Given the description of an element on the screen output the (x, y) to click on. 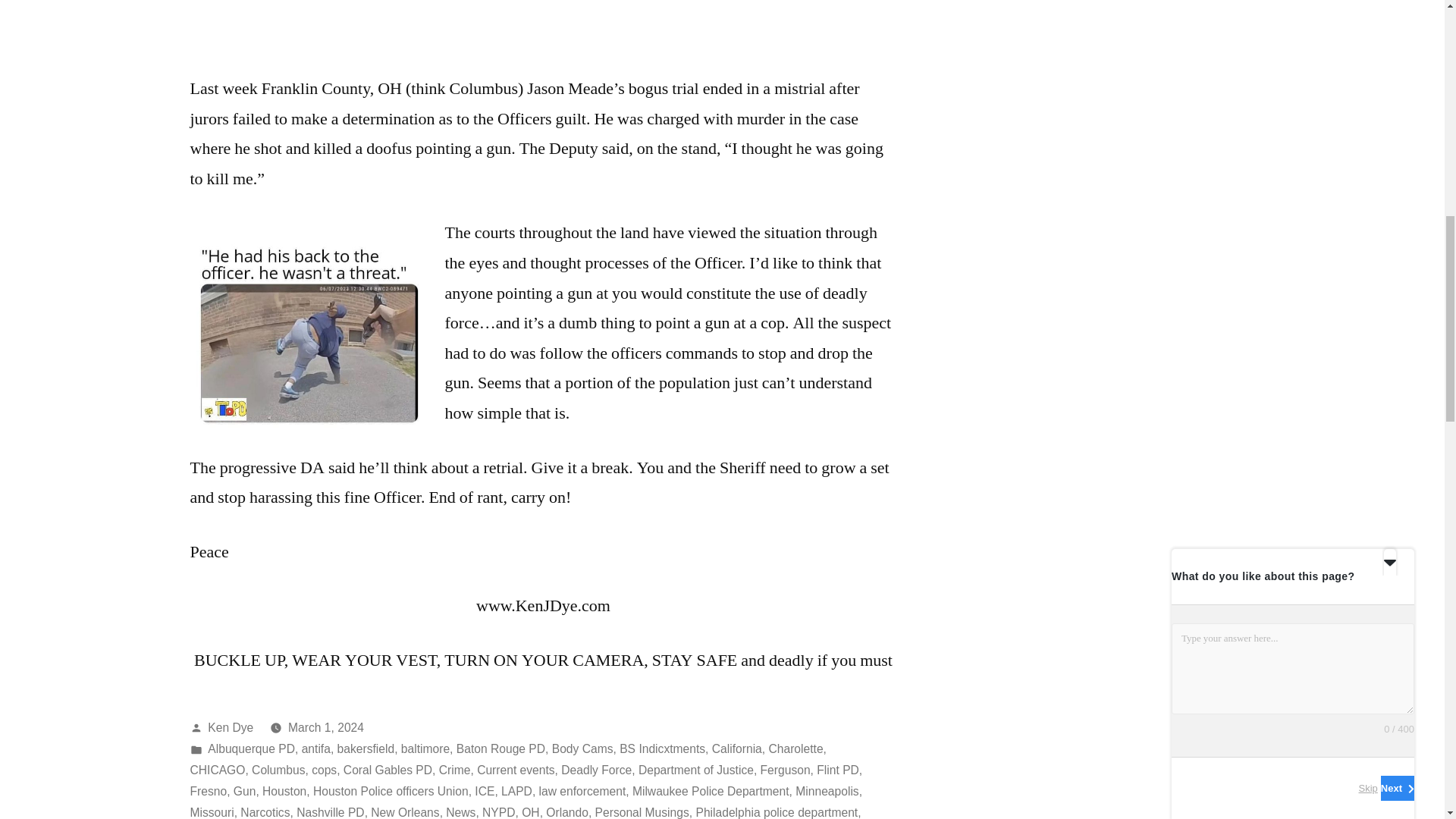
antifa (315, 748)
law enforcement (582, 790)
Flint PD (837, 769)
bakersfield (365, 748)
Houston Police officers Union (390, 790)
Baton Rouge PD (500, 748)
LAPD (516, 790)
baltimore (425, 748)
CHICAGO (216, 769)
March 1, 2024 (326, 726)
